Given the description of an element on the screen output the (x, y) to click on. 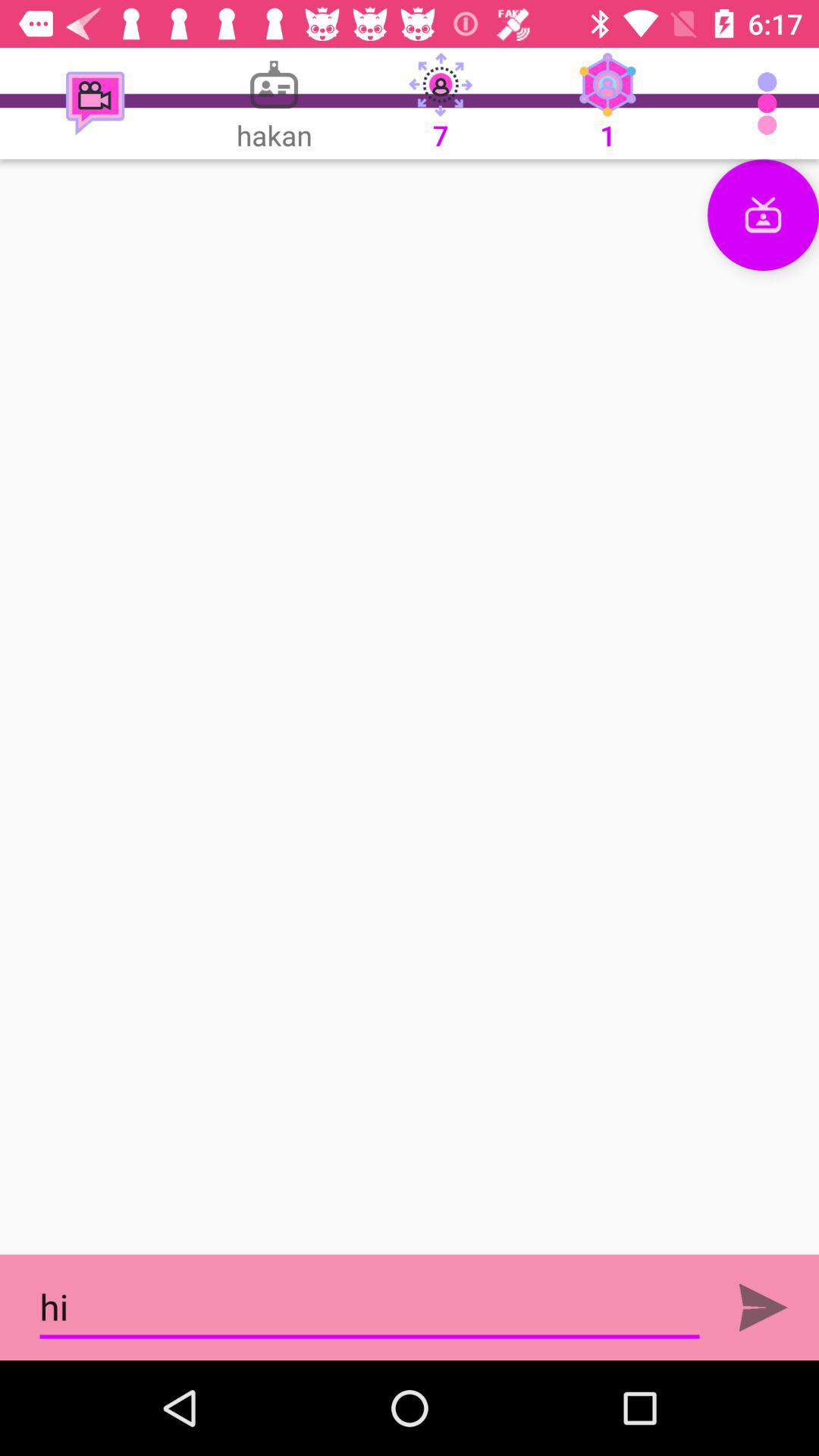
communication icon (763, 214)
